Given the description of an element on the screen output the (x, y) to click on. 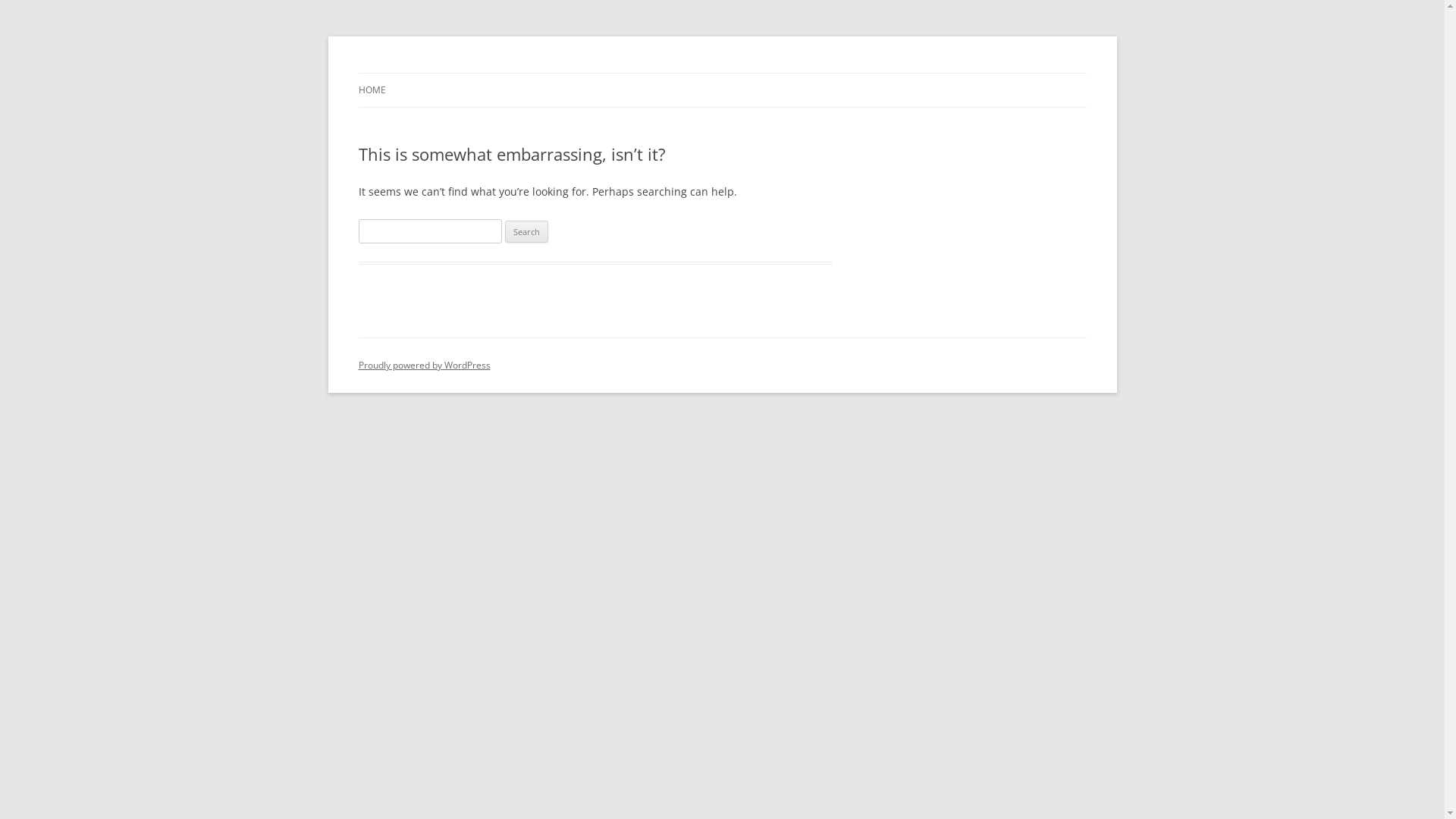
Proudly powered by WordPress Element type: text (423, 364)
Lockyer Valley Luxury Home Builders Element type: text (540, 72)
HOME Element type: text (371, 89)
Skip to content Element type: text (721, 72)
Search Element type: text (526, 231)
